Given the description of an element on the screen output the (x, y) to click on. 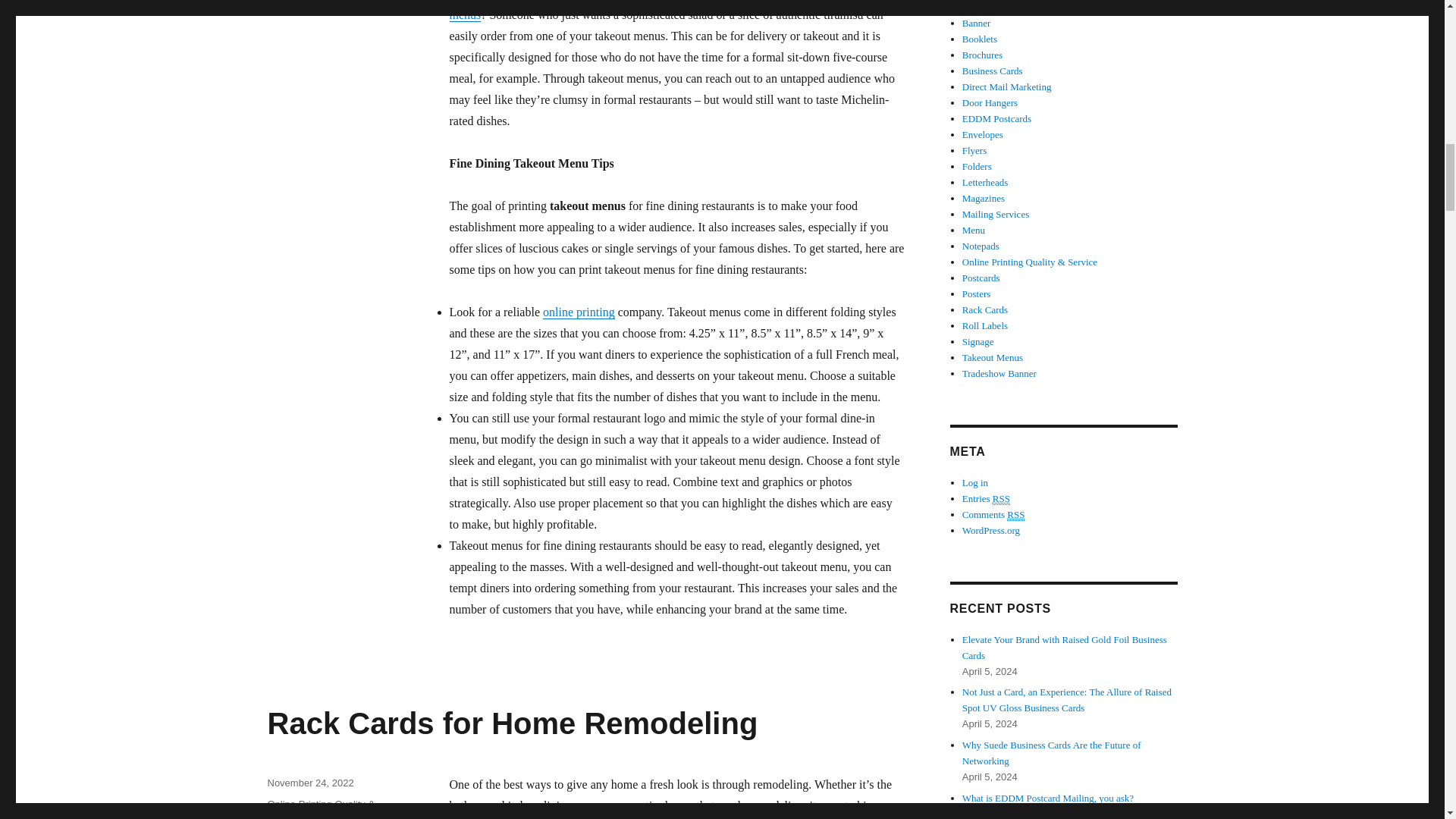
online printing (578, 311)
to-go menus (672, 10)
to-go menus (293, 4)
Rack Cards for Home Remodeling (511, 723)
November 24, 2022 (309, 782)
Really Simple Syndication (1016, 514)
Really Simple Syndication (1001, 499)
